Given the description of an element on the screen output the (x, y) to click on. 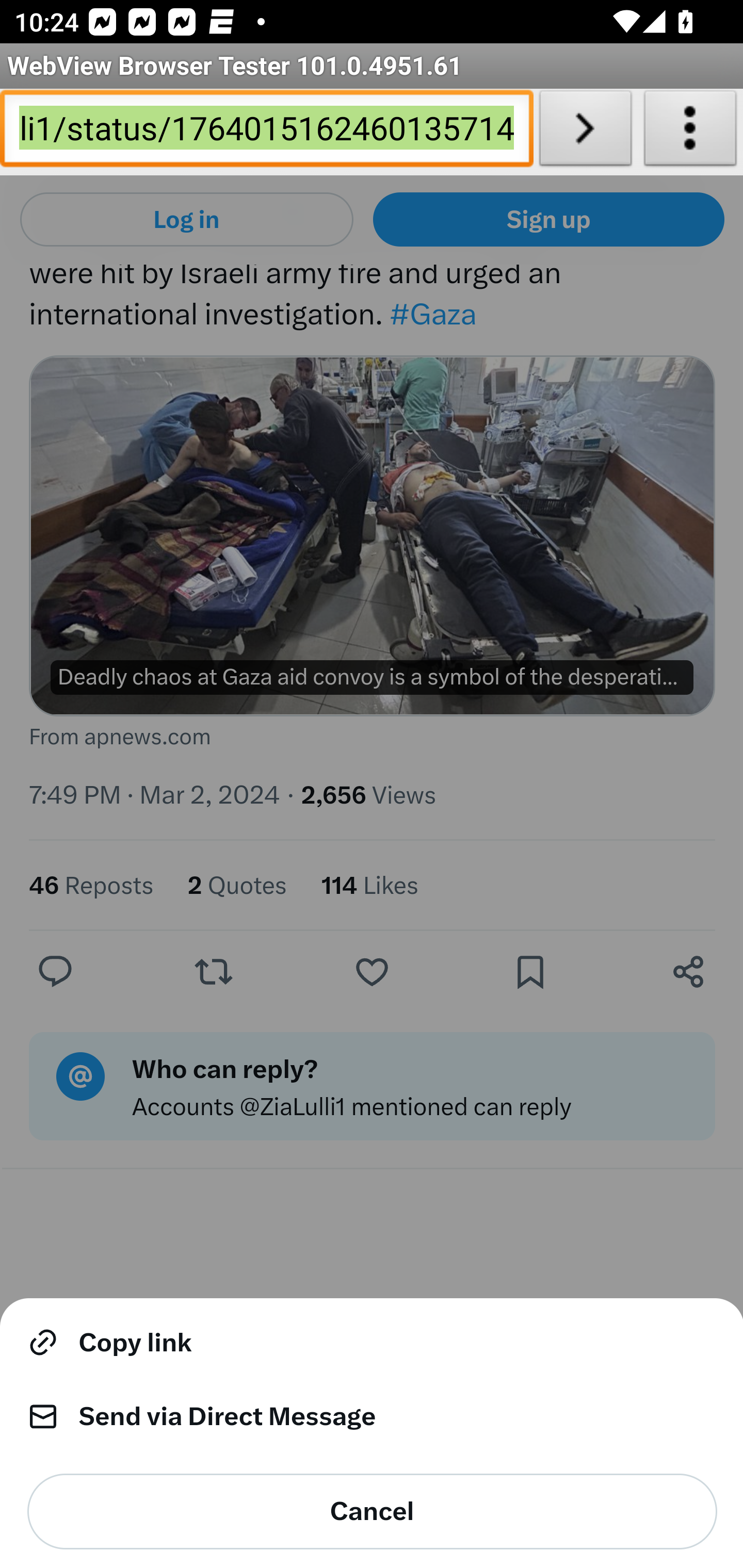
Load URL (585, 132)
About WebView (690, 132)
